Given the description of an element on the screen output the (x, y) to click on. 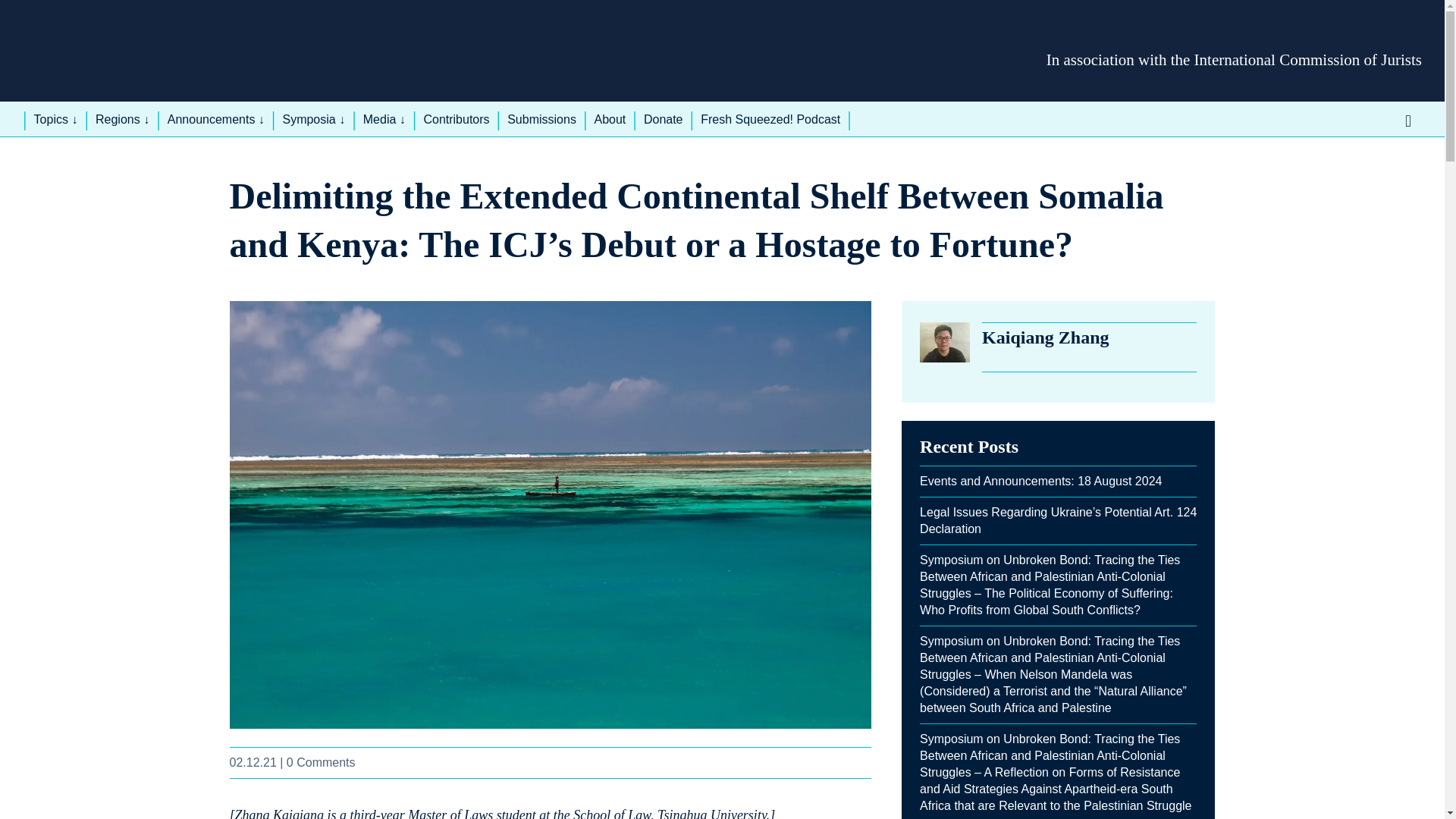
Submissions (541, 119)
Contributors (456, 119)
In association with the International Commission of Jurists (1234, 59)
About (608, 119)
Fresh Squeezed! Podcast (770, 119)
Donate (663, 119)
Donate (663, 119)
